Given the description of an element on the screen output the (x, y) to click on. 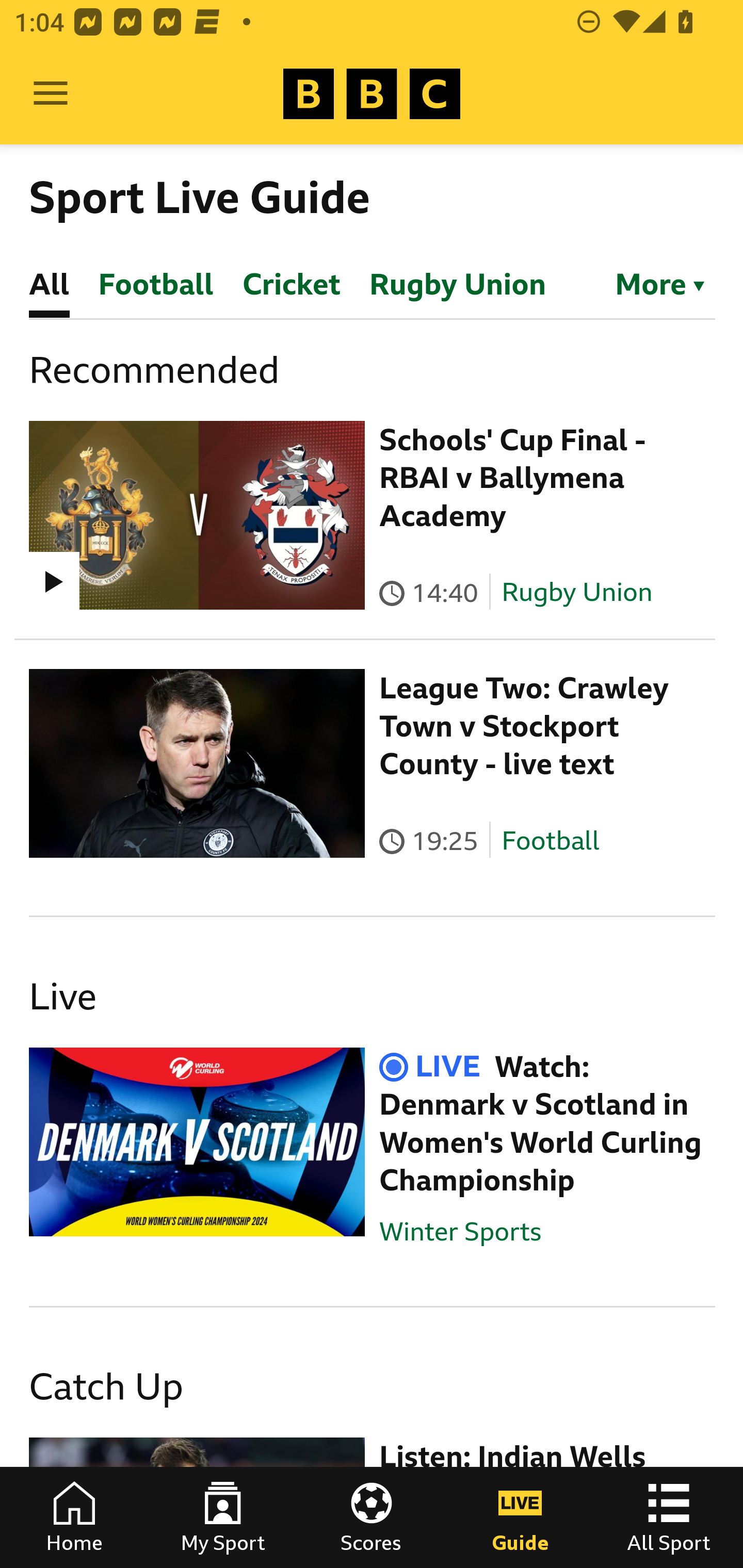
Open Menu (50, 93)
Schools' Cup Final - RBAI v Ballymena Academy (512, 477)
Rugby Union (576, 591)
Football (550, 840)
Winter Sports (459, 1230)
Home (74, 1517)
My Sport (222, 1517)
Scores (371, 1517)
All Sport (668, 1517)
